Given the description of an element on the screen output the (x, y) to click on. 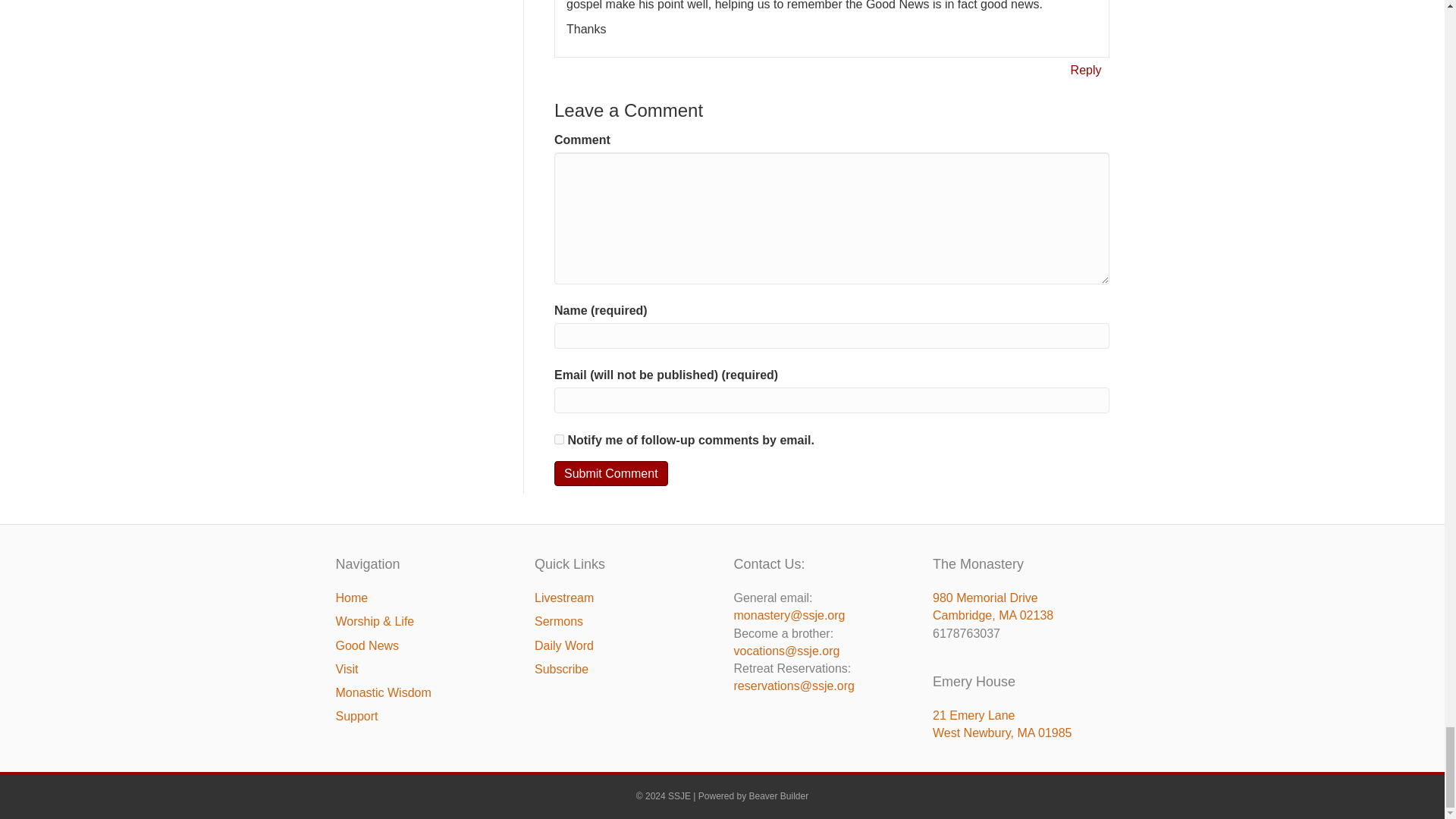
subscribe (559, 439)
Submit Comment (611, 473)
WordPress Page Builder Plugin (779, 796)
